Given the description of an element on the screen output the (x, y) to click on. 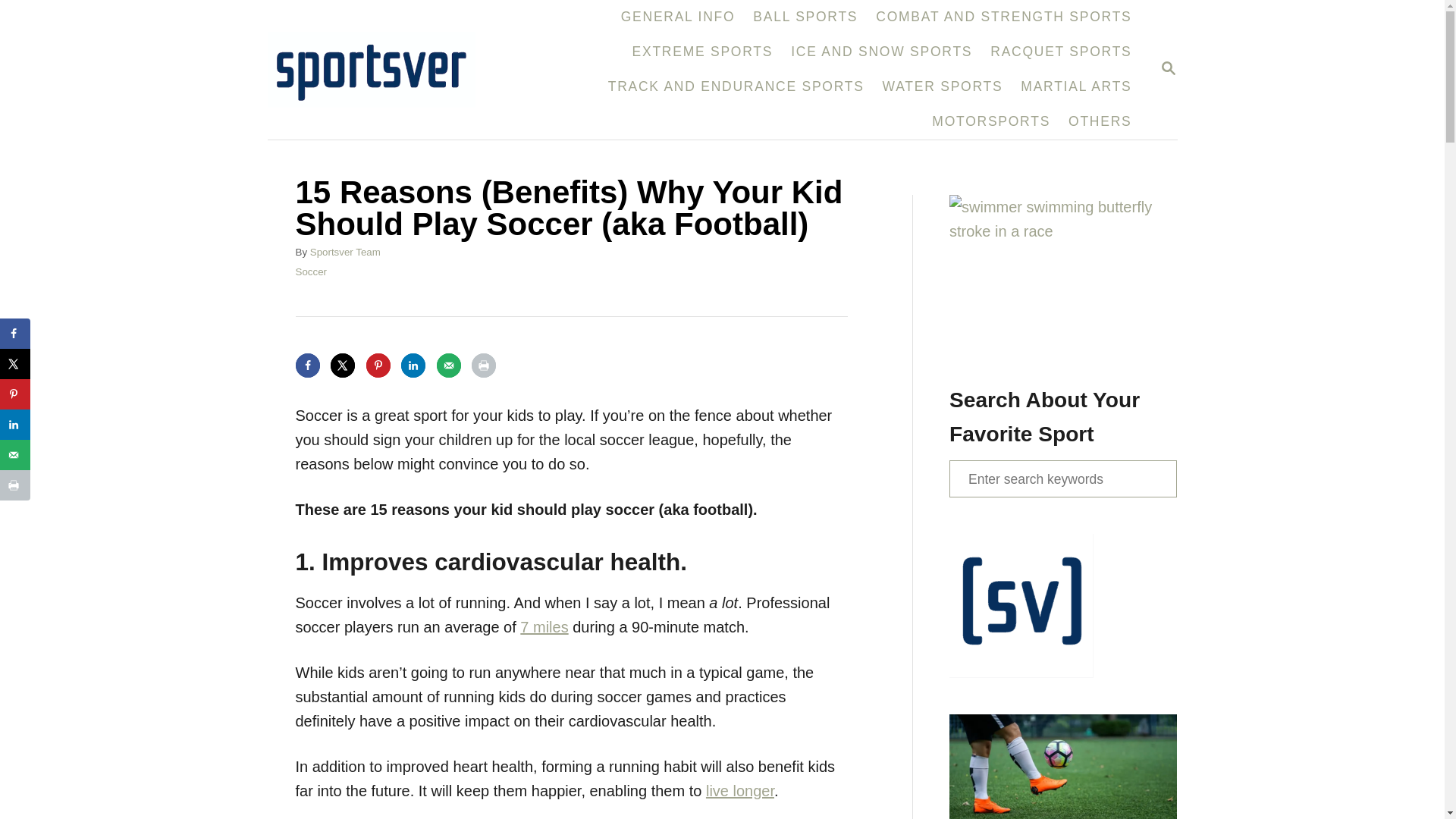
Save to Pinterest (378, 364)
BALL SPORTS (805, 17)
COMBAT AND STRENGTH SPORTS (1003, 17)
Print this webpage (483, 364)
Search for: (1062, 478)
Print this webpage (15, 485)
Send over email (448, 364)
GENERAL INFO (677, 17)
MAGNIFYING GLASS (1167, 67)
Share on LinkedIn (15, 424)
